Given the description of an element on the screen output the (x, y) to click on. 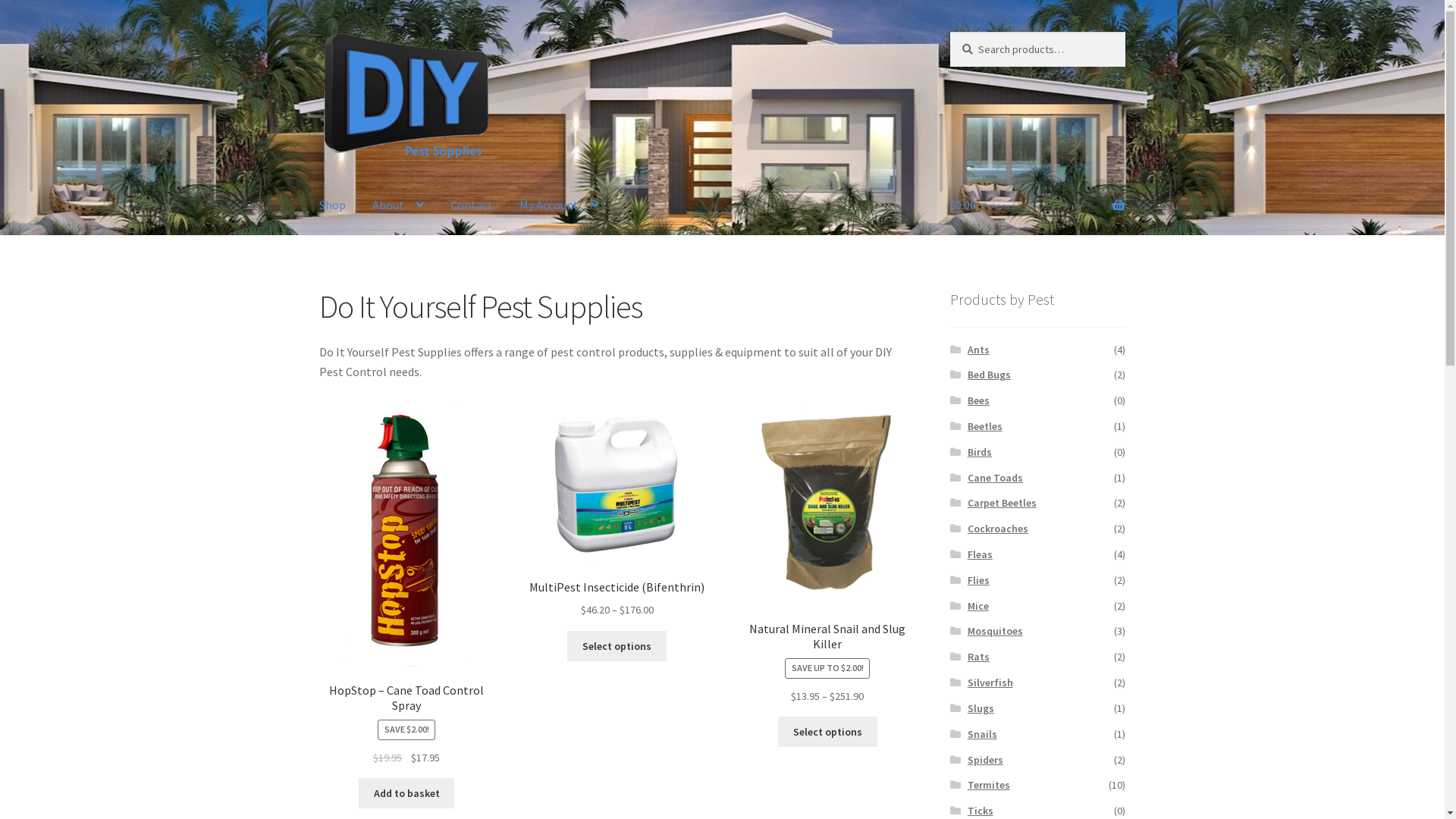
Snails Element type: text (982, 733)
Select options Element type: text (827, 731)
Select options Element type: text (616, 645)
Beetles Element type: text (984, 426)
Flies Element type: text (978, 579)
Mice Element type: text (977, 605)
Silverfish Element type: text (990, 682)
Skip to navigation Element type: text (318, 31)
Slugs Element type: text (980, 708)
Mosquitoes Element type: text (994, 630)
Cane Toads Element type: text (994, 477)
Contact Element type: text (471, 205)
Ticks Element type: text (980, 810)
Rats Element type: text (978, 656)
Search Element type: text (949, 31)
Cockroaches Element type: text (997, 528)
Bees Element type: text (978, 400)
$0.00 0 items Element type: text (1037, 205)
Add to basket Element type: text (406, 793)
Birds Element type: text (979, 451)
Ants Element type: text (978, 349)
My Account Element type: text (558, 205)
Fleas Element type: text (979, 554)
Shop Element type: text (332, 205)
About Element type: text (398, 205)
Bed Bugs Element type: text (988, 374)
Carpet Beetles Element type: text (1001, 502)
Termites Element type: text (988, 784)
Spiders Element type: text (985, 759)
